Given the description of an element on the screen output the (x, y) to click on. 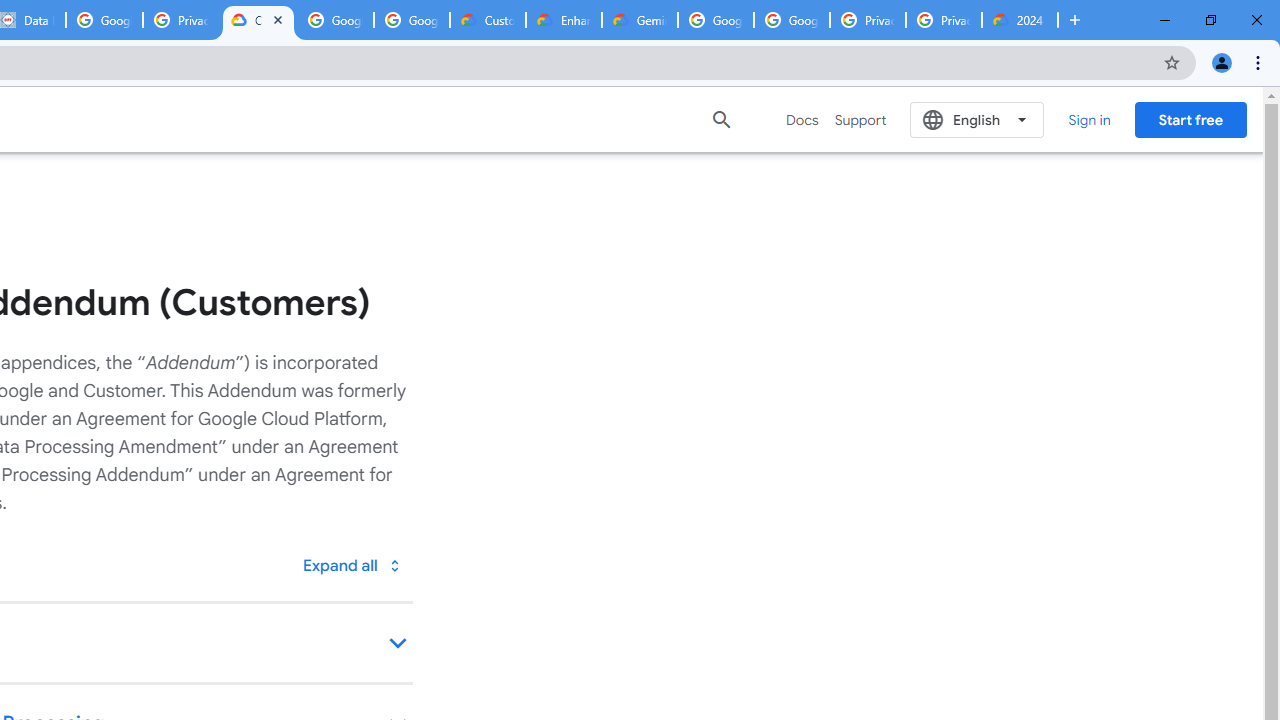
Gemini for Business and Developers | Google Cloud (639, 20)
Google Cloud Platform (791, 20)
Customer Care | Google Cloud (488, 20)
Cloud Data Processing Addendum | Google Cloud (258, 20)
